Given the description of an element on the screen output the (x, y) to click on. 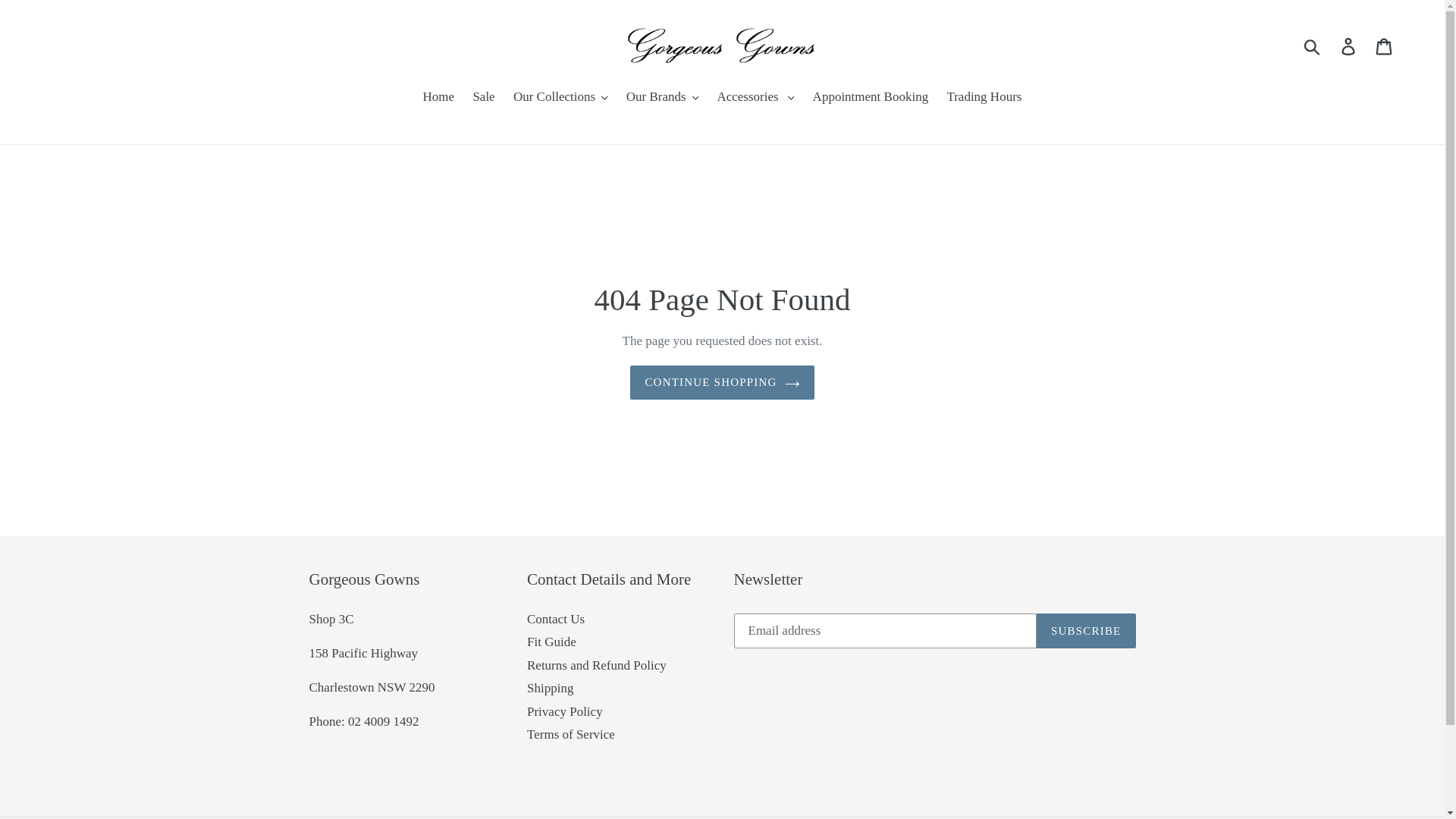
Home Element type: text (438, 98)
CONTINUE SHOPPING Element type: text (721, 383)
Log in Element type: text (1349, 45)
Fit Guide Element type: text (551, 642)
Shipping Element type: text (550, 688)
SUBSCRIBE Element type: text (1085, 631)
Sale Element type: text (483, 98)
Terms of Service Element type: text (571, 735)
Returns and Refund Policy Element type: text (596, 665)
Privacy Policy Element type: text (564, 712)
Trading Hours Element type: text (983, 98)
Appointment Booking Element type: text (870, 98)
Cart Element type: text (1384, 45)
Submit Element type: text (1312, 45)
Contact Us Element type: text (555, 619)
